Given the description of an element on the screen output the (x, y) to click on. 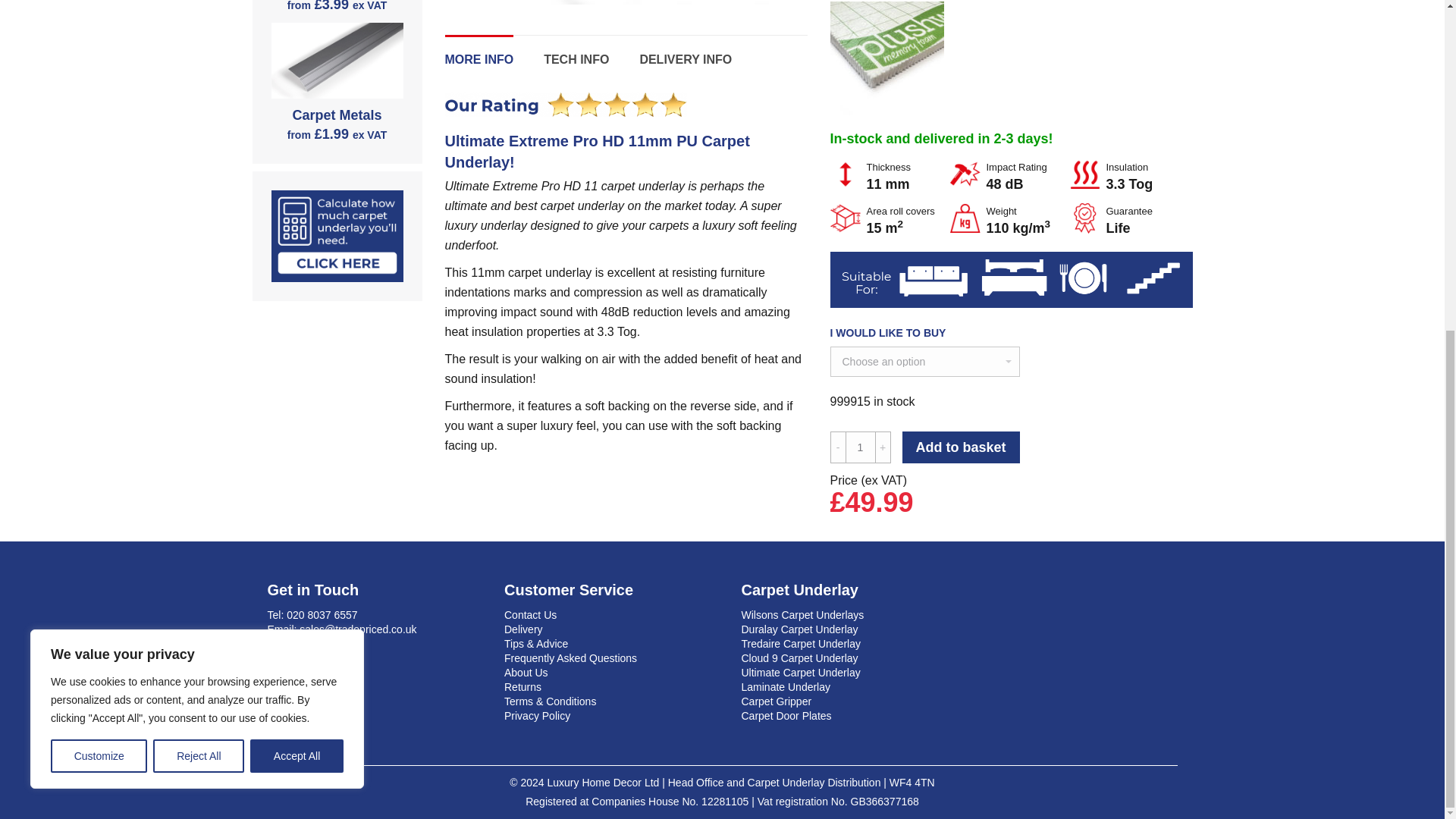
1 (859, 447)
Reject All (198, 207)
Accept All (296, 207)
Rocket HD 11mm (625, 2)
Qty (859, 447)
Customize (98, 207)
